Given the description of an element on the screen output the (x, y) to click on. 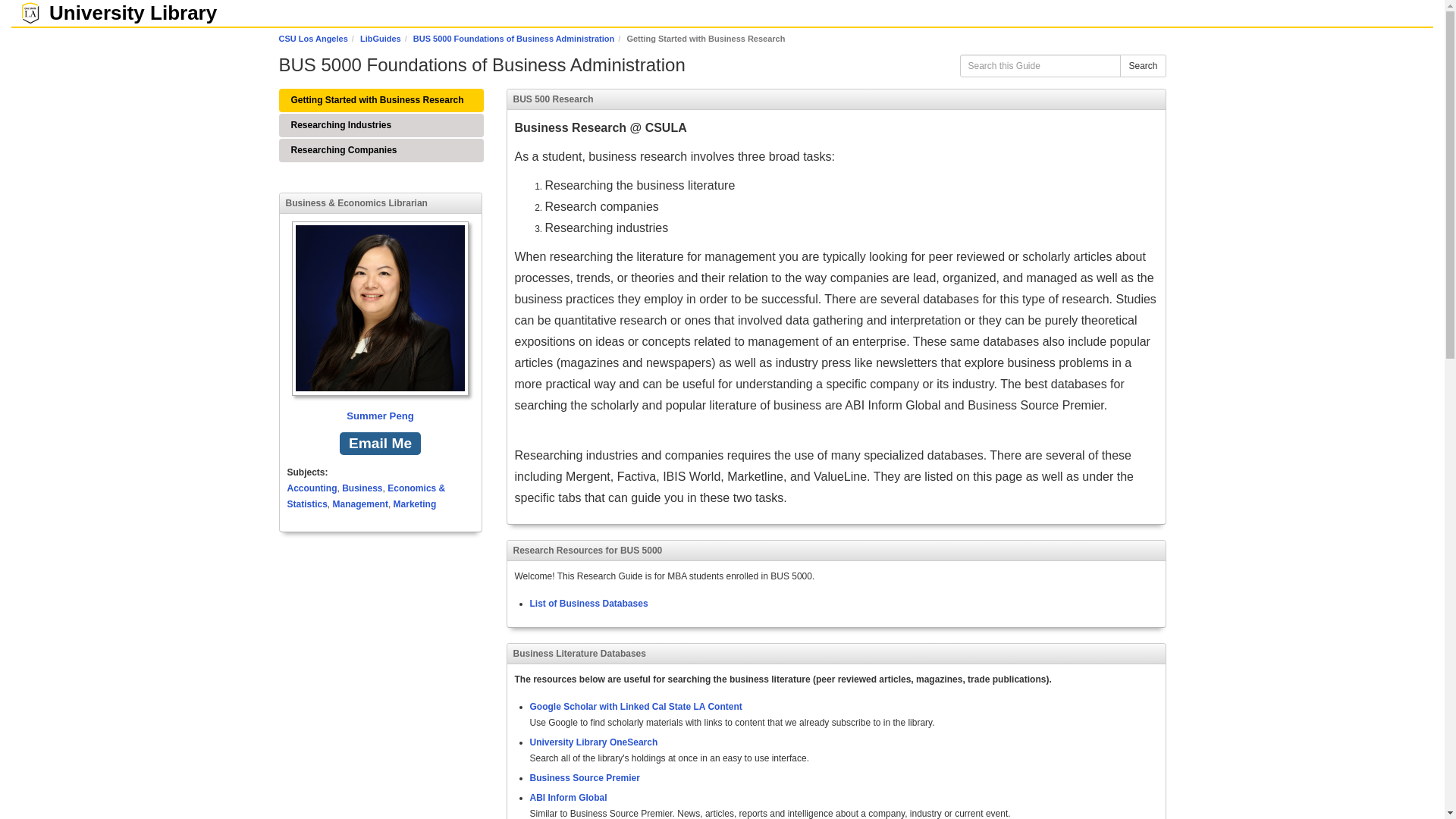
University Library OneSearch (593, 742)
Business Source Premier (584, 777)
Email Me (379, 443)
Search (1142, 65)
Getting Started with Business Research (381, 99)
university library (125, 13)
BUS 5000 Foundations of Business Administration (513, 38)
Marketing (414, 503)
CSU Los Angeles (313, 38)
LibGuides (380, 38)
Business (361, 488)
Management (360, 503)
Summer Peng (379, 323)
University Library (125, 13)
Google Scholar with Linked Cal State LA Content (635, 706)
